Given the description of an element on the screen output the (x, y) to click on. 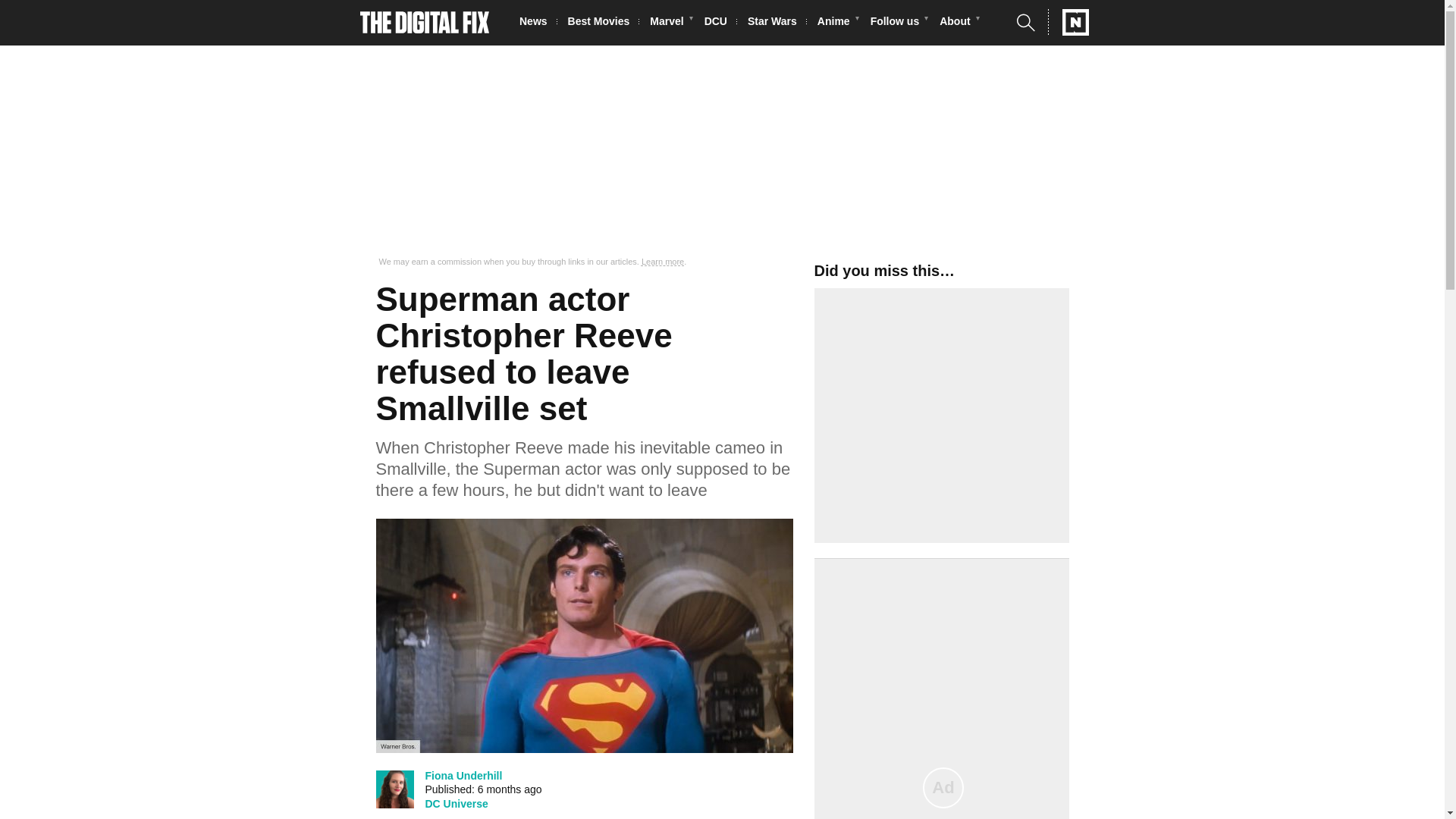
Learn more (663, 261)
Best Movies (603, 22)
Marvel Cinematic Universe News (671, 22)
Follow us (899, 22)
Star Wars News (777, 22)
Marvel (671, 22)
Anime (837, 22)
The Digital Fix (424, 22)
Anime News (837, 22)
DC Universe (456, 803)
